Given the description of an element on the screen output the (x, y) to click on. 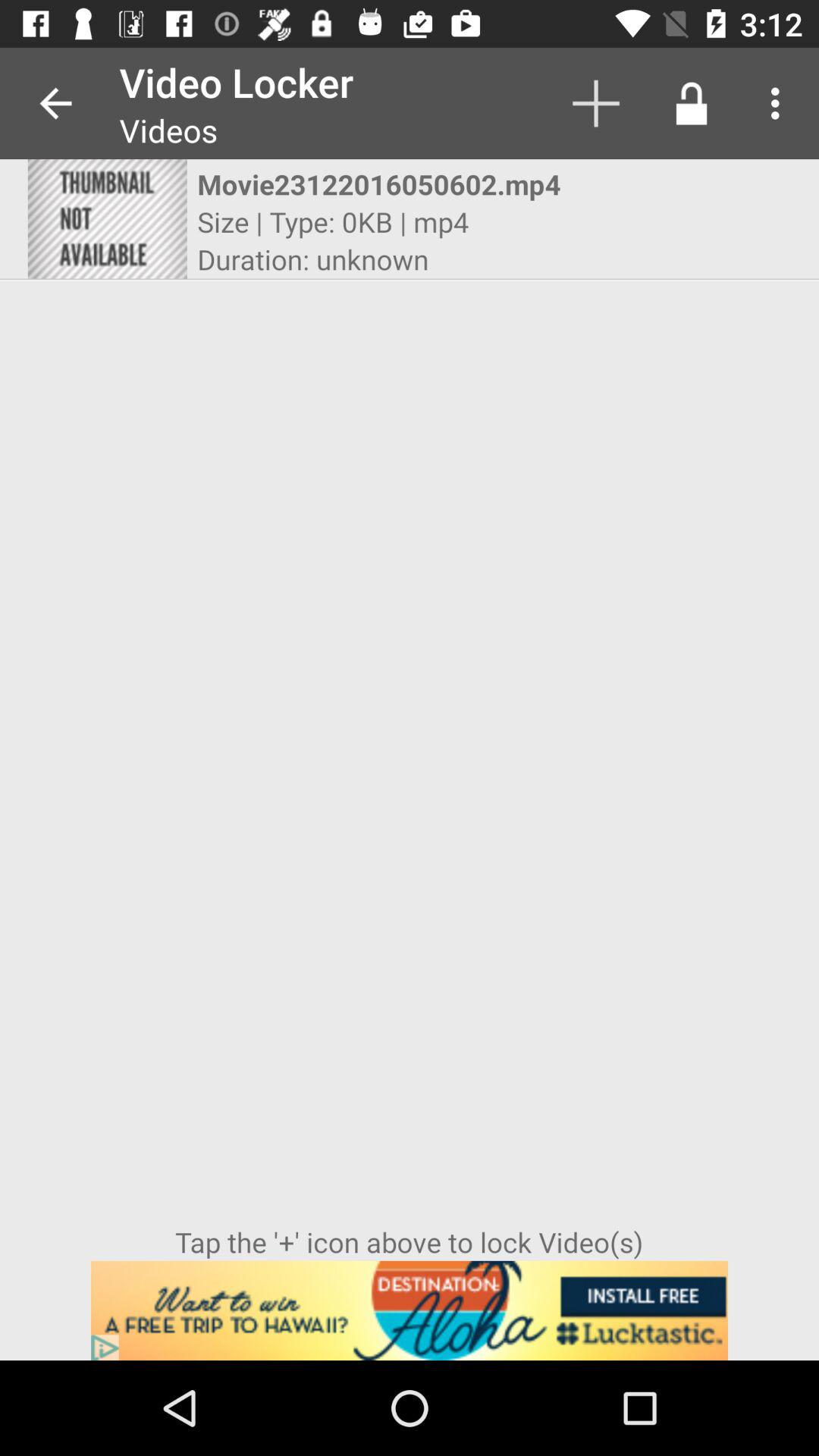
click movie23122016050602.mp4 icon (396, 184)
